Given the description of an element on the screen output the (x, y) to click on. 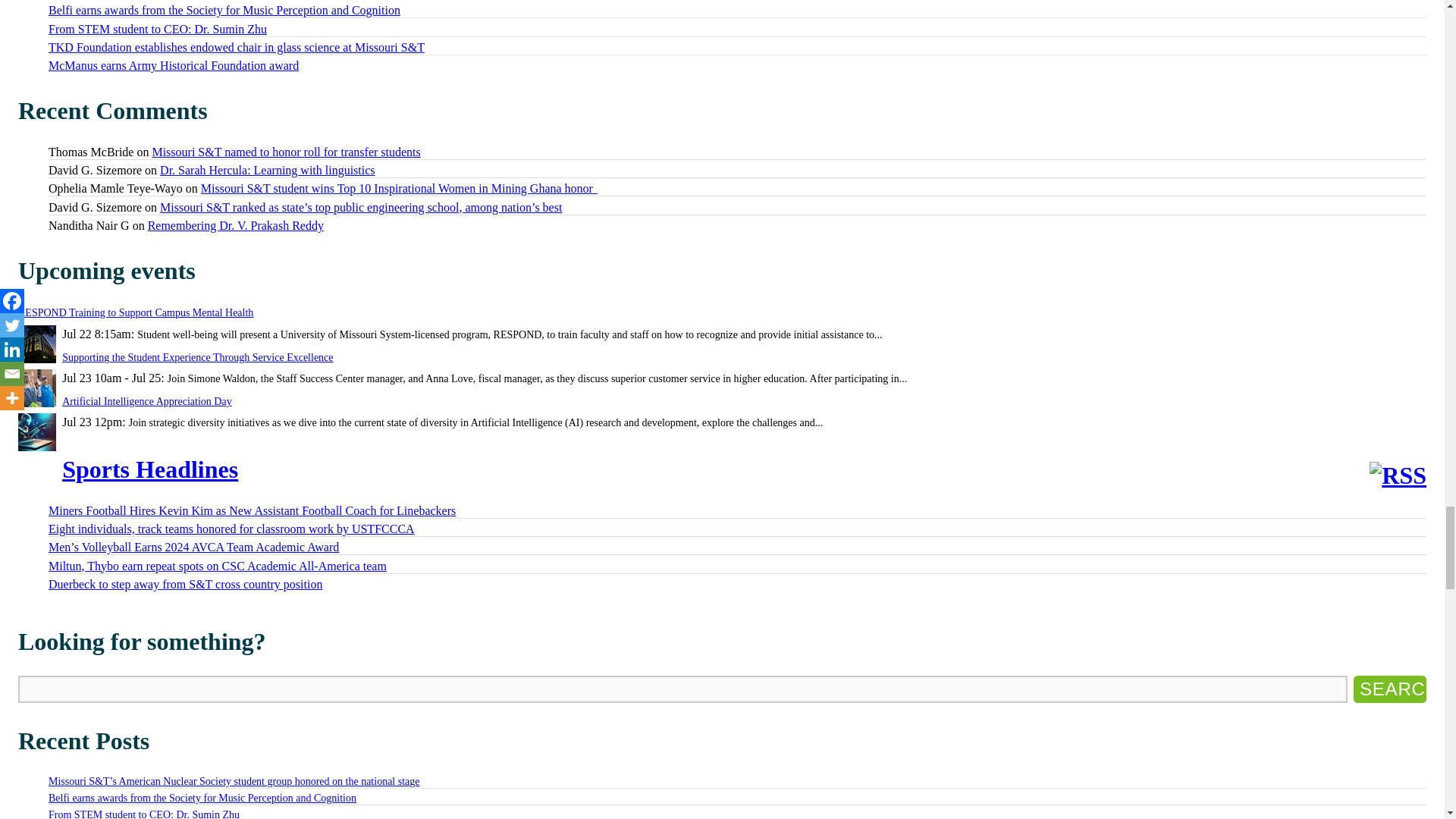
Search (1390, 688)
